Given the description of an element on the screen output the (x, y) to click on. 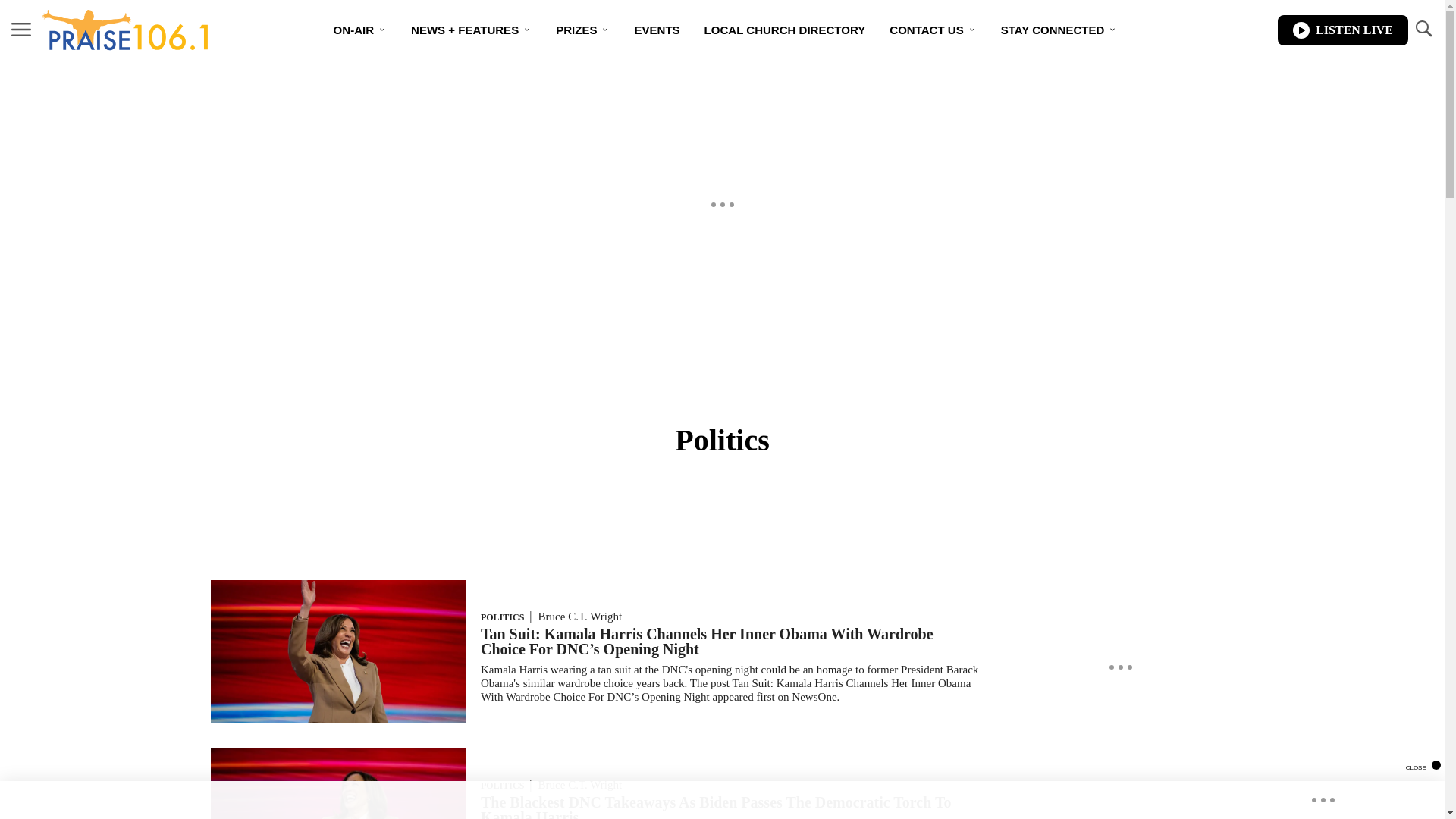
ON-AIR (359, 30)
STAY CONNECTED (1058, 30)
LISTEN LIVE (1342, 30)
LOCAL CHURCH DIRECTORY (785, 30)
MENU (20, 29)
EVENTS (656, 30)
CONTACT US (932, 30)
PRIZES (582, 30)
TOGGLE SEARCH (1422, 28)
MENU (20, 30)
